Given the description of an element on the screen output the (x, y) to click on. 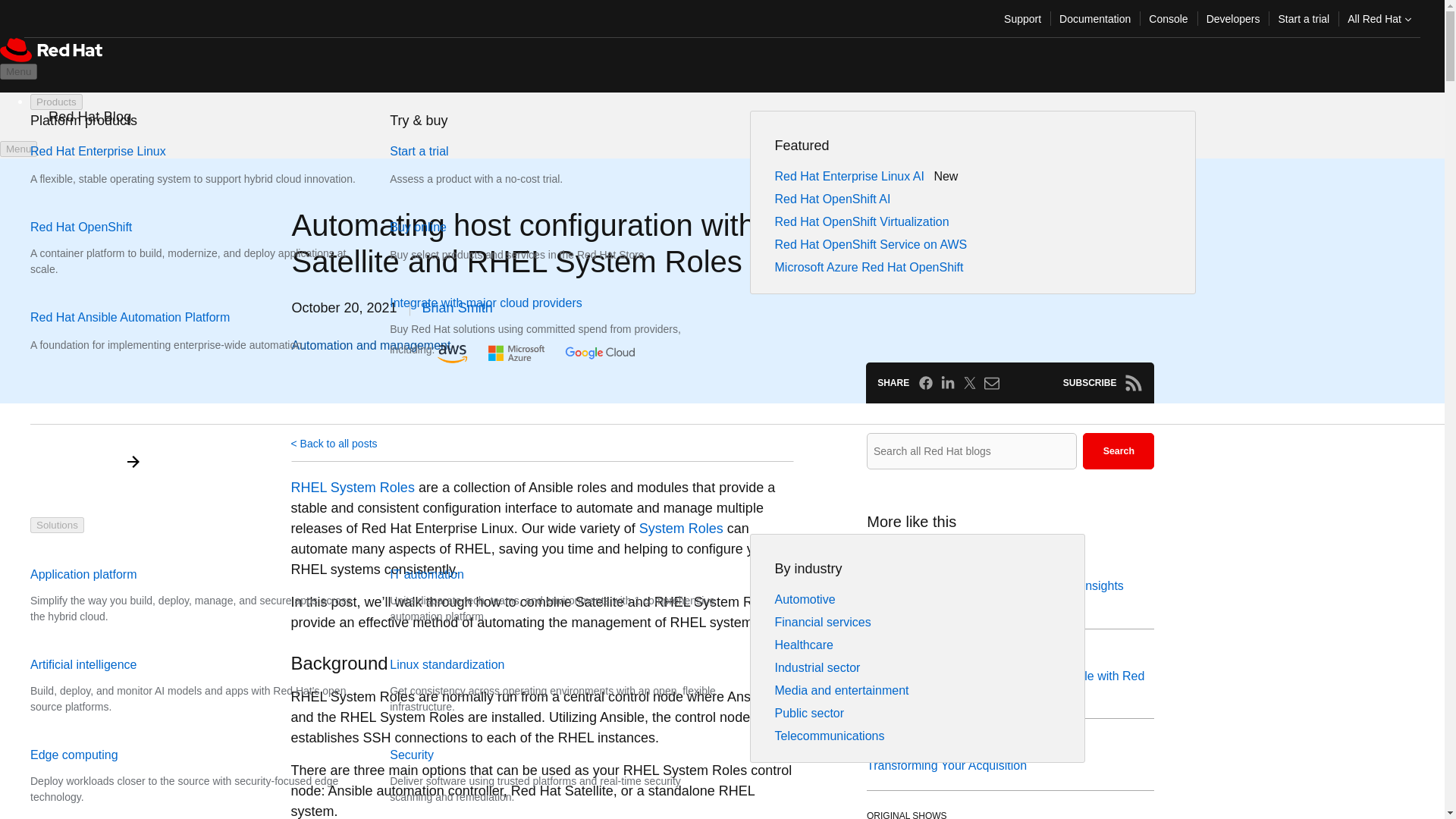
Start a trialAssess a product with a no-cost trial. (505, 165)
Developers (1232, 18)
Console (1168, 18)
All Red Hat (1379, 18)
Support (1021, 18)
Start a trial (1303, 18)
